Given the description of an element on the screen output the (x, y) to click on. 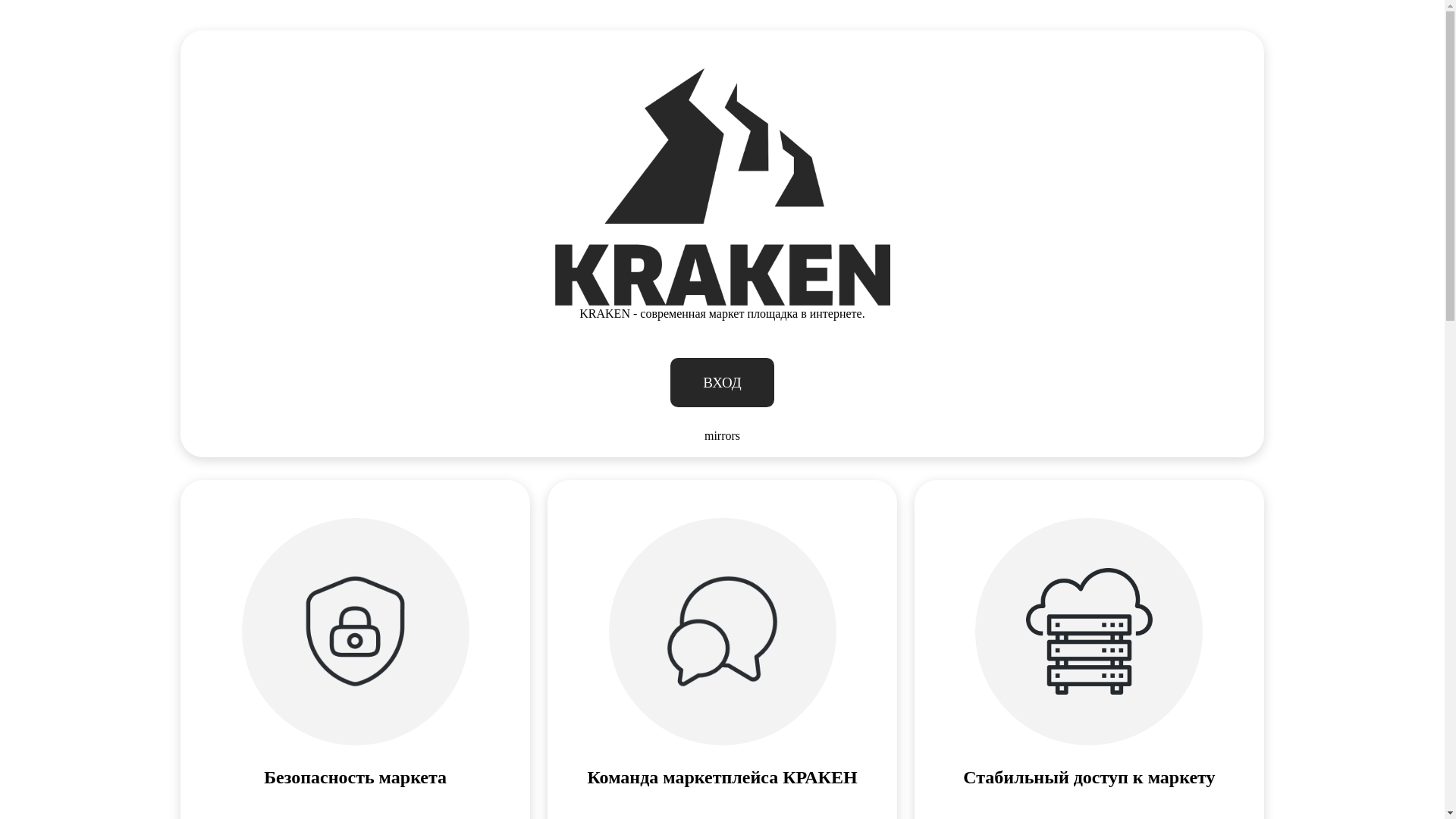
mirrors Element type: text (722, 435)
